Given the description of an element on the screen output the (x, y) to click on. 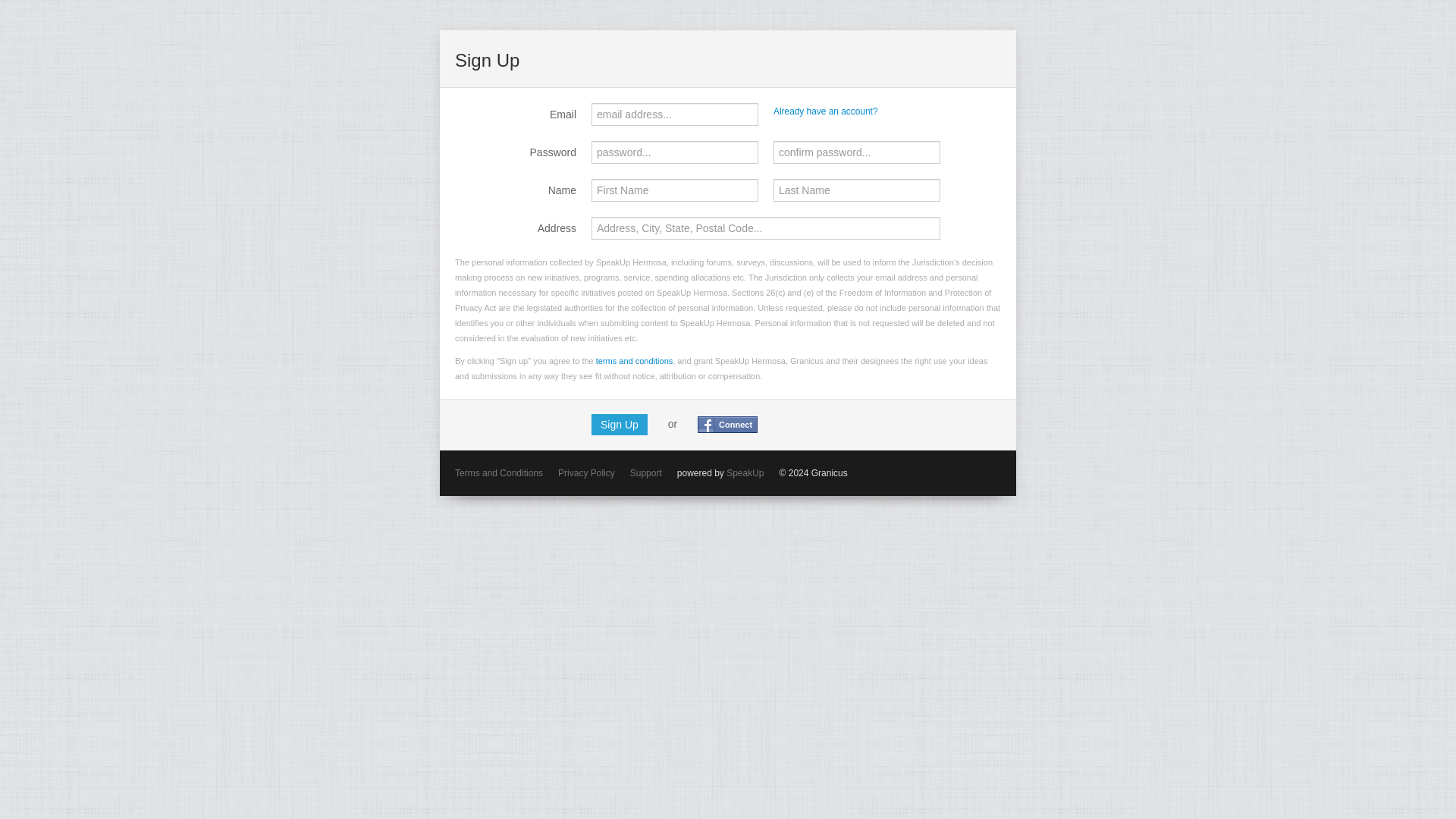
terms and conditions (633, 360)
Already have an account? (825, 111)
Connect (727, 424)
Support (646, 472)
SpeakUp (744, 472)
Privacy Policy (585, 472)
Sign Up (619, 424)
Terms and Conditions (498, 472)
